Given the description of an element on the screen output the (x, y) to click on. 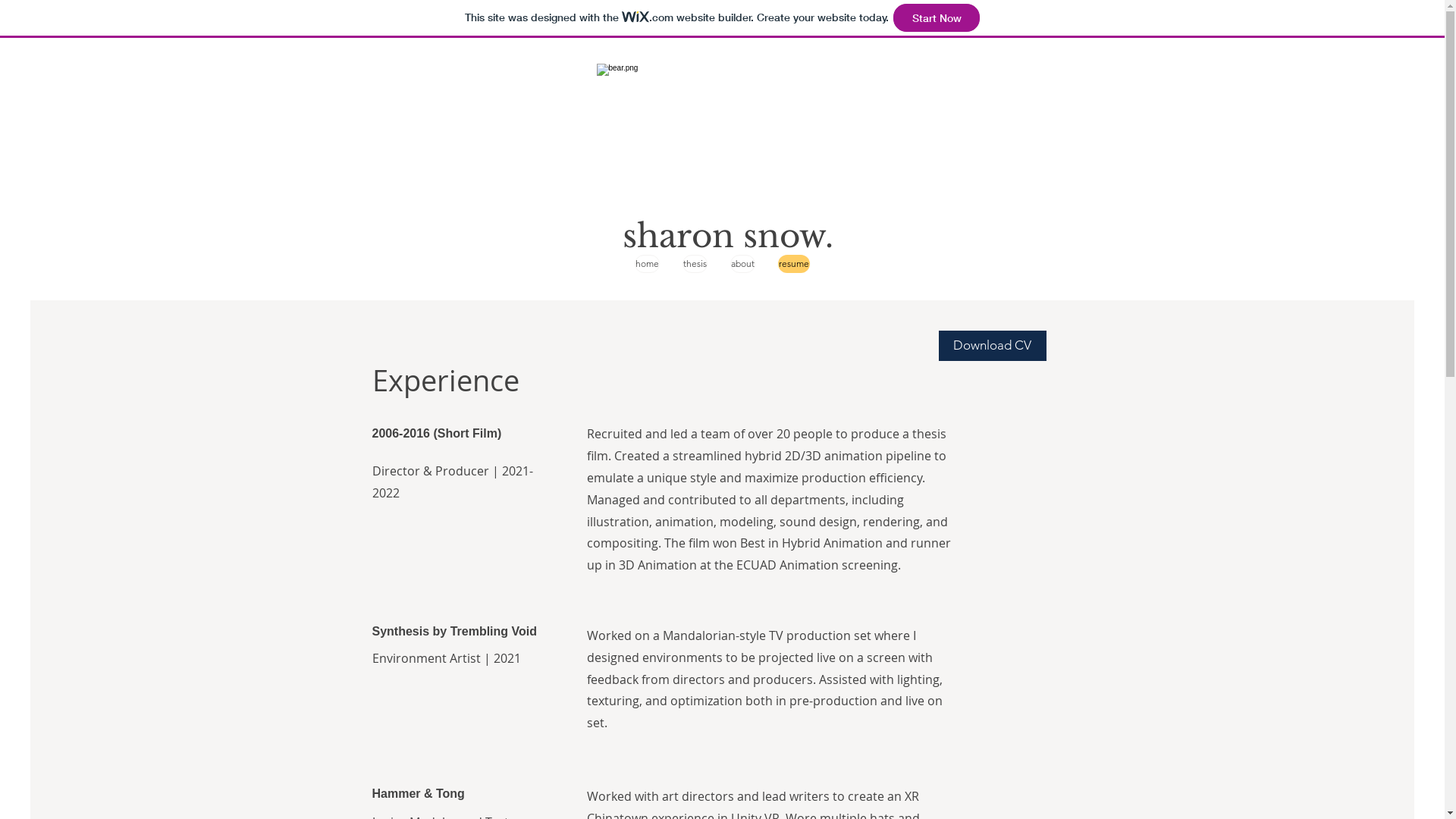
resume Element type: text (793, 263)
about Element type: text (742, 263)
sharon snow. Element type: text (726, 235)
Download CV Element type: text (992, 345)
thesis Element type: text (694, 263)
home Element type: text (646, 263)
